Given the description of an element on the screen output the (x, y) to click on. 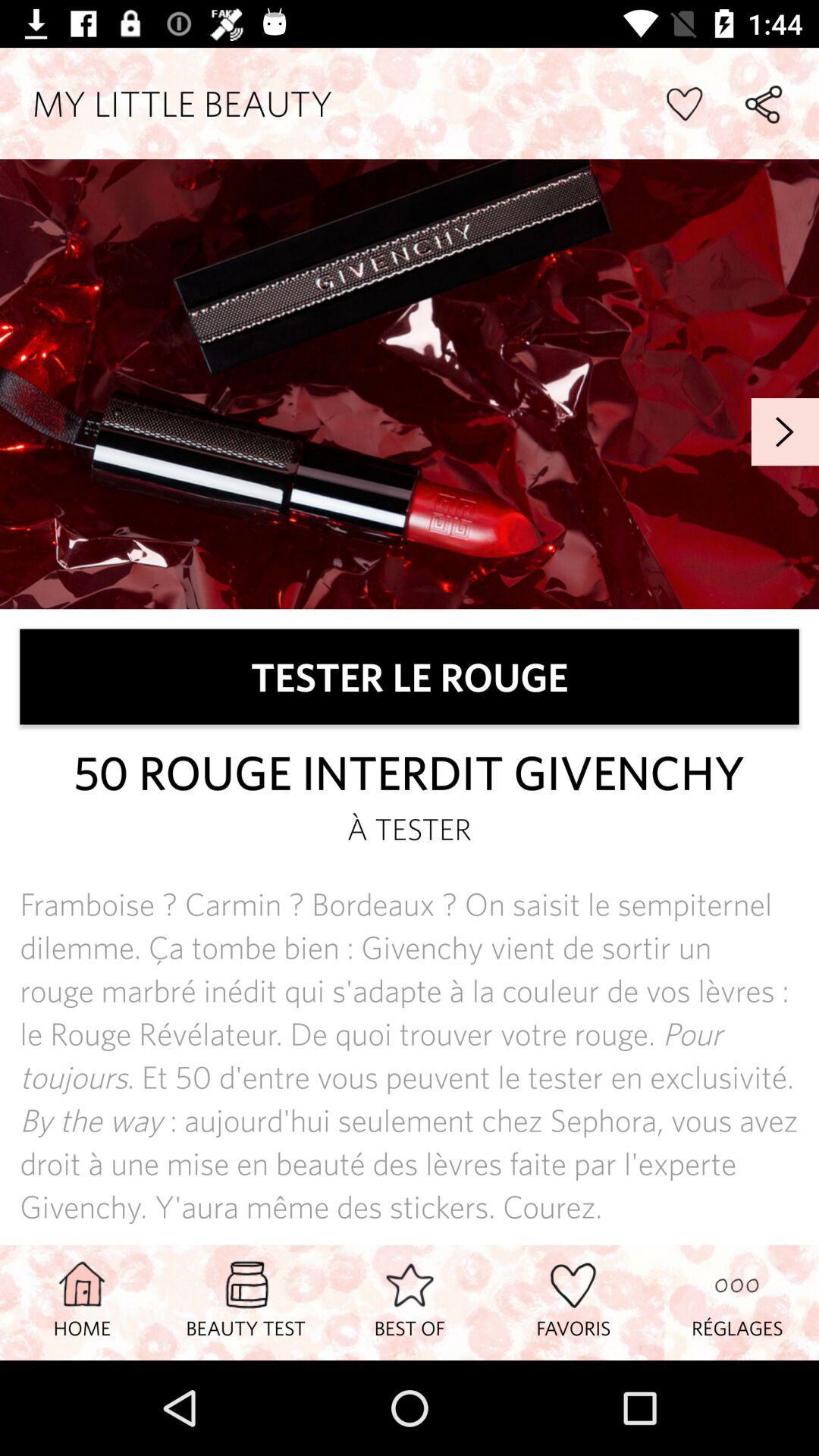
press the icon next to the beauty test icon (81, 1302)
